Given the description of an element on the screen output the (x, y) to click on. 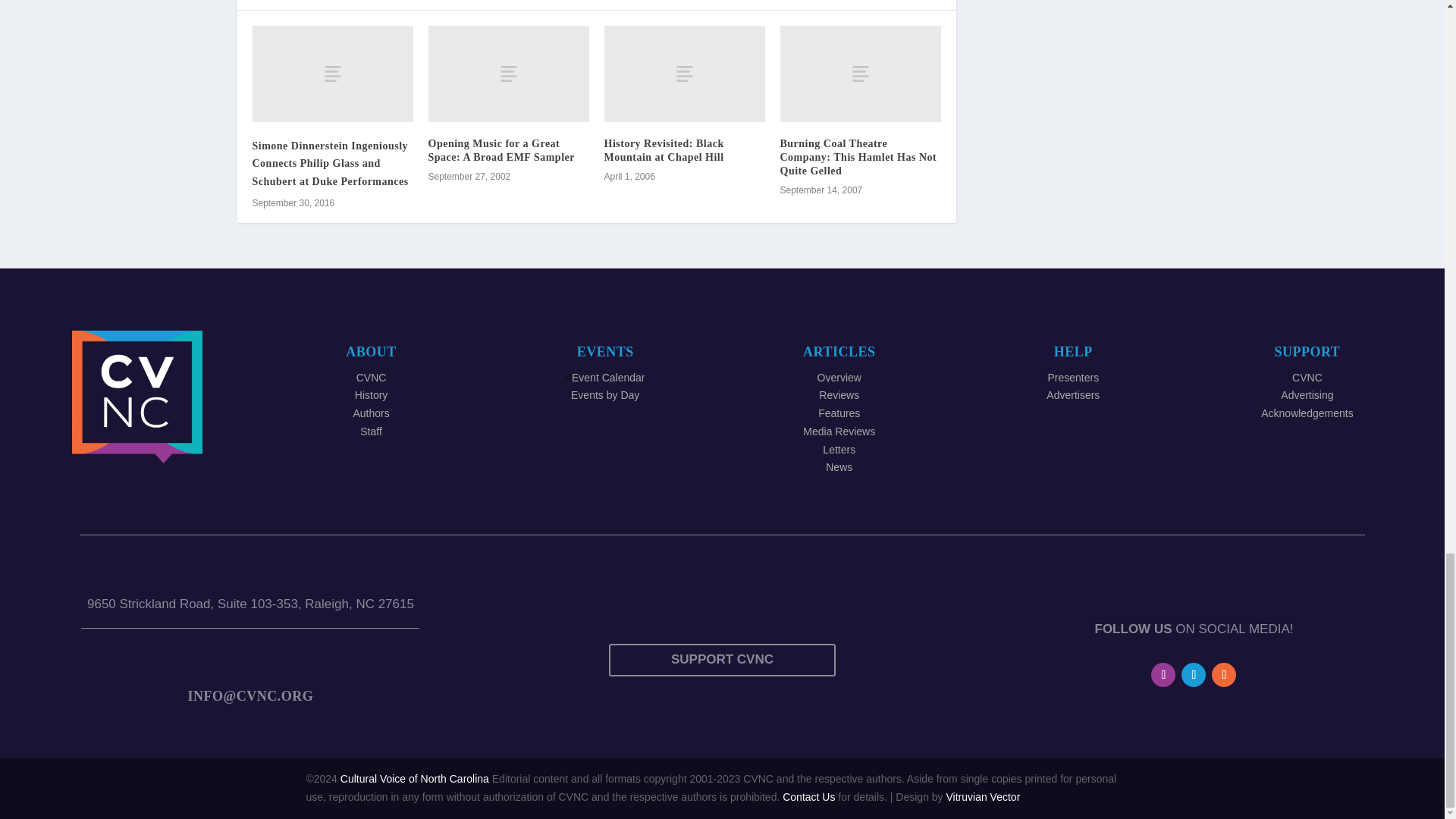
Opening Music for a Great Space: A Broad EMF Sampler (508, 73)
